Given the description of an element on the screen output the (x, y) to click on. 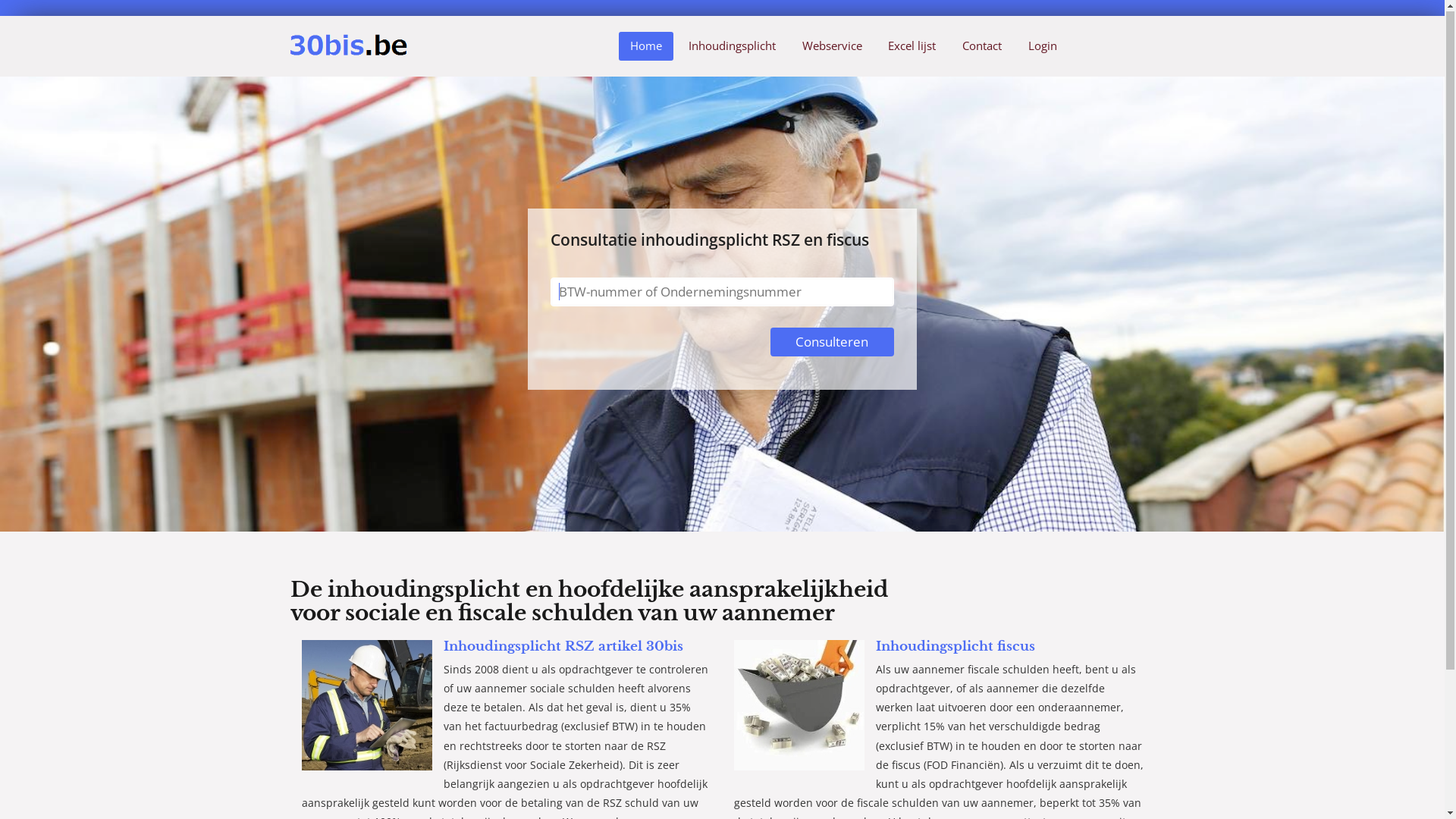
Home Element type: text (646, 46)
Login Element type: text (1042, 46)
Webservice Element type: text (831, 46)
Contact Element type: text (981, 46)
Excel lijst Element type: text (911, 46)
Inhoudingsplicht Element type: text (731, 46)
Consulteren Element type: text (832, 342)
Inhoudingsplicht fiscus Element type: text (954, 647)
Inhoudingsplicht RSZ artikel 30bis Element type: text (562, 647)
